Given the description of an element on the screen output the (x, y) to click on. 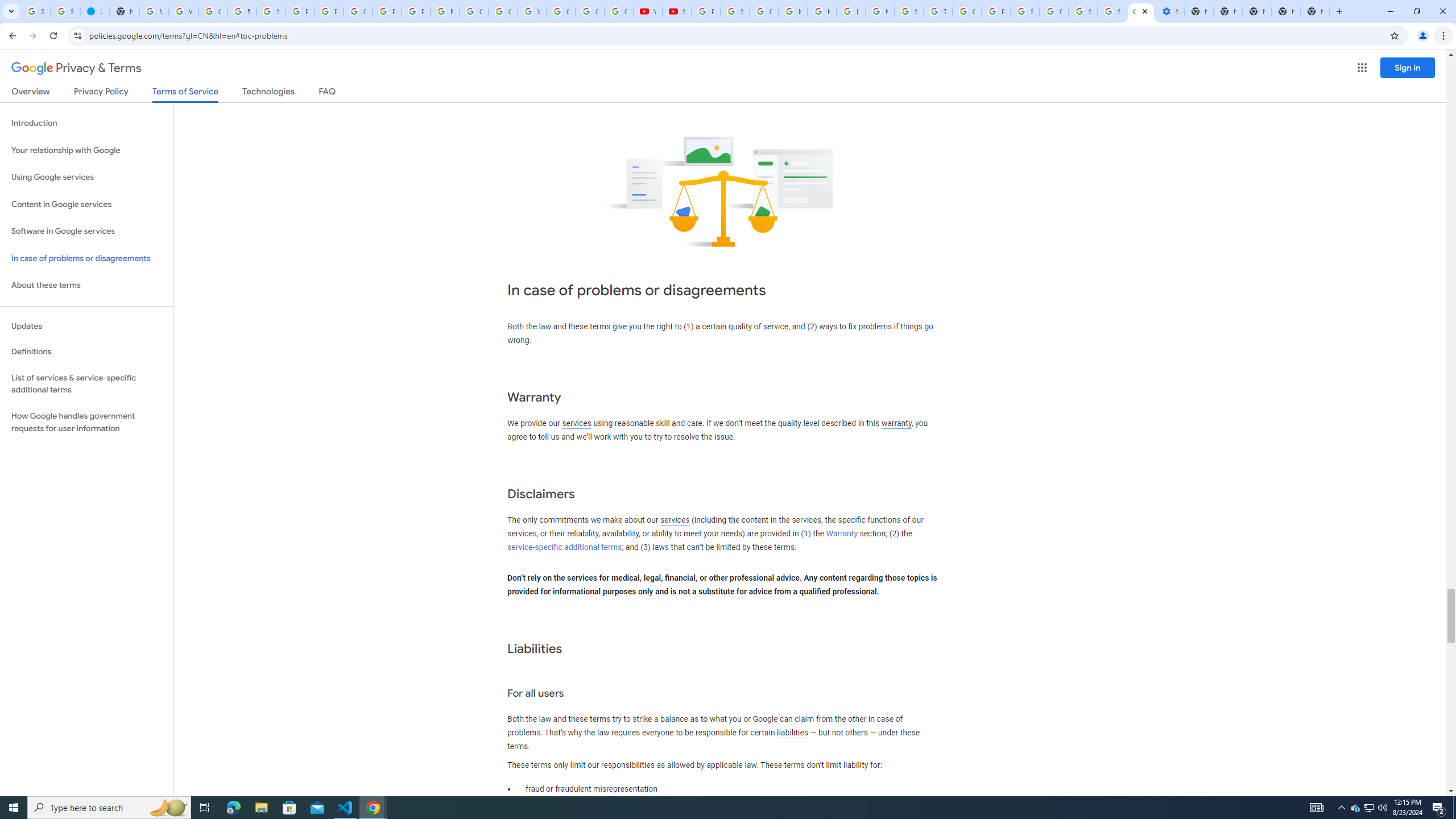
Google Slides: Sign-in (473, 11)
Create your Google Account (212, 11)
YouTube (648, 11)
warranty (895, 423)
